Given the description of an element on the screen output the (x, y) to click on. 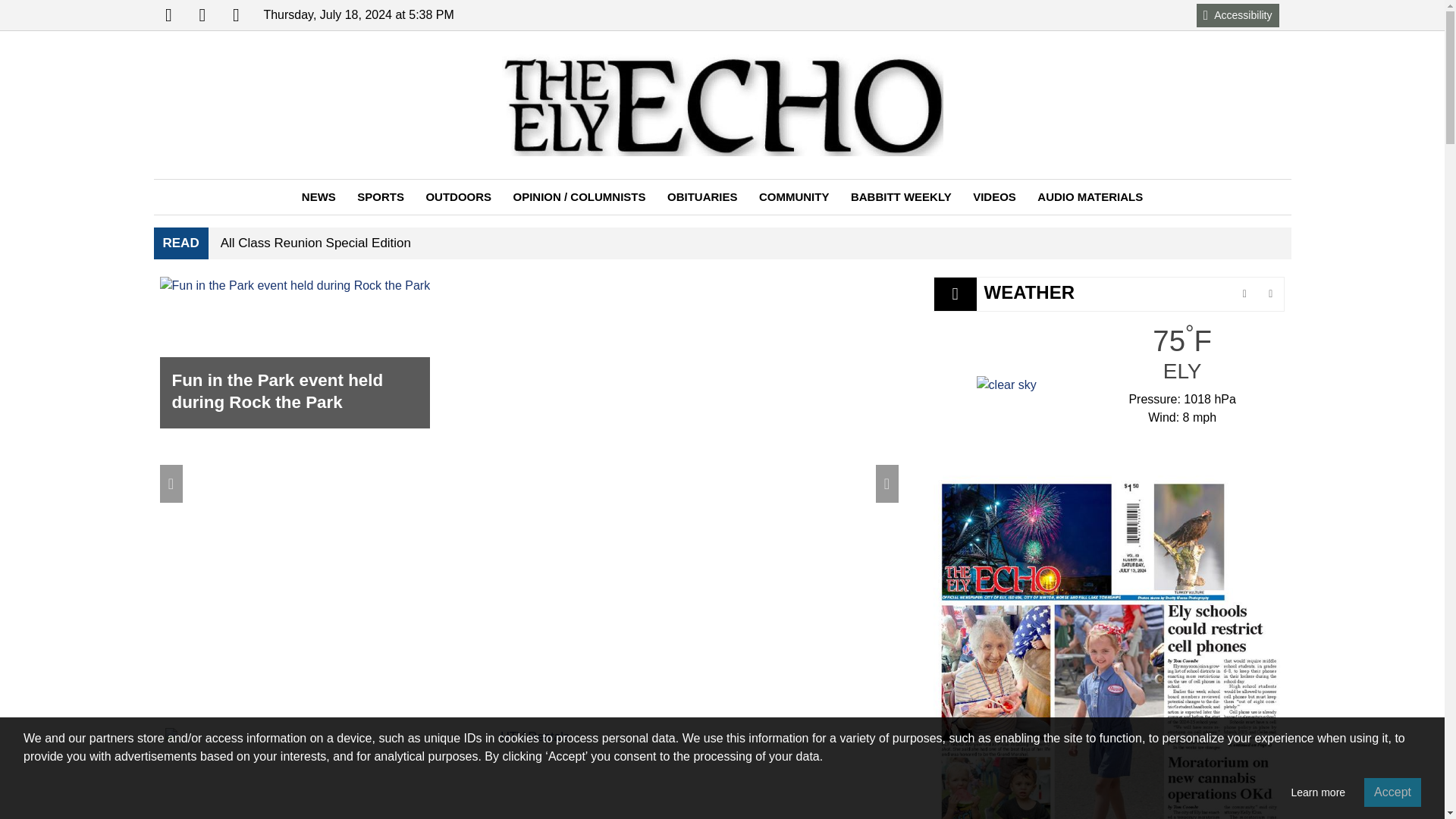
NEWS (318, 197)
Go to Youtube.com (235, 15)
Go to X.com (201, 15)
Go to homepage (722, 105)
All Class Reunion Special Edition (315, 243)
SPORTS (380, 197)
OUTDOORS (458, 197)
Youtube.com (235, 15)
VIDEOS (994, 197)
OBITUARIES (702, 197)
AUDIO MATERIALS (1089, 197)
Fun in the Park event held during Rock the Park (293, 352)
Fun in the Park event held during Rock the Park (293, 352)
COMMUNITY (793, 197)
X.com (201, 15)
